Given the description of an element on the screen output the (x, y) to click on. 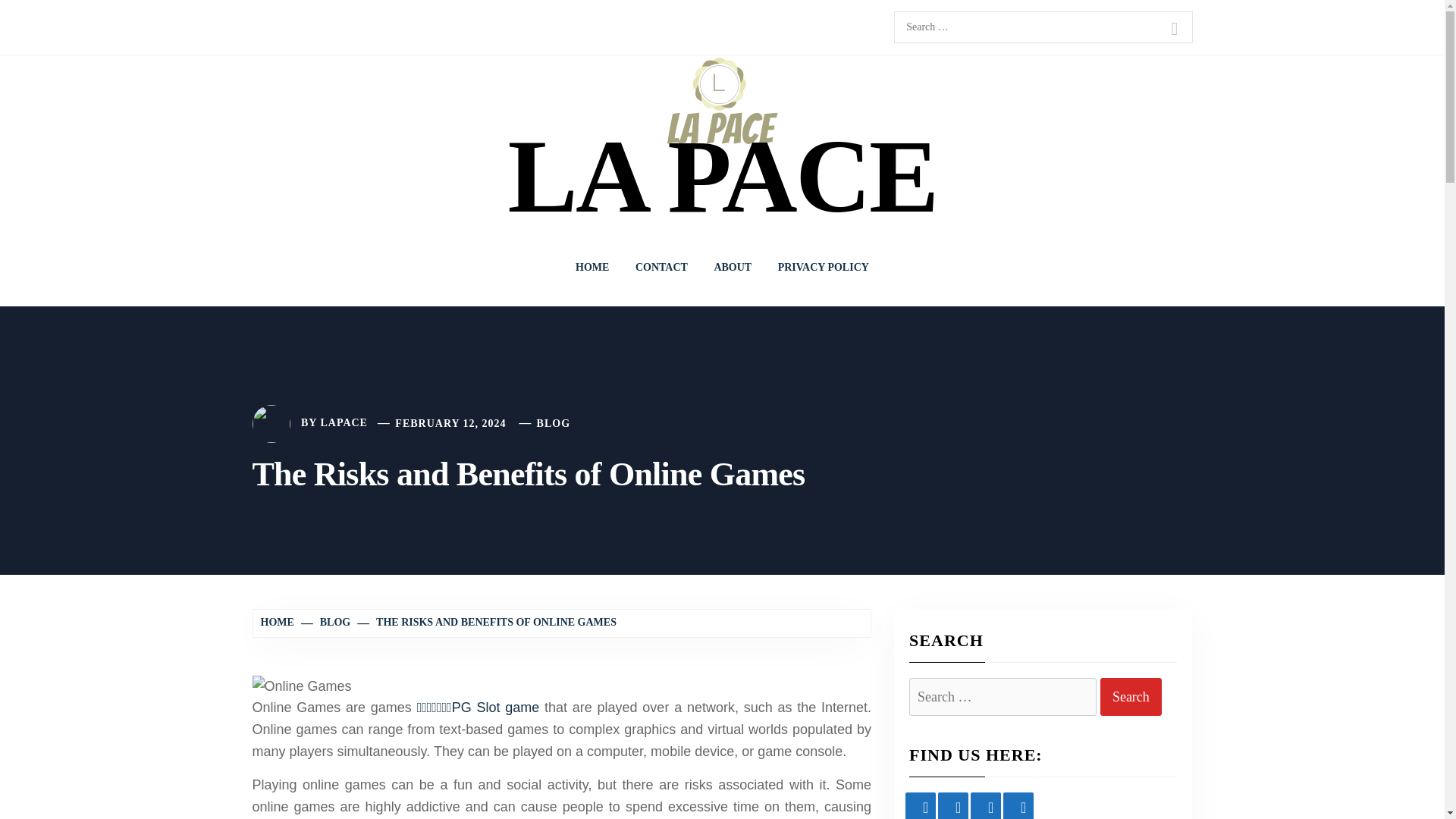
Search (1174, 28)
Instagram (986, 805)
Search (1130, 697)
BLOG (326, 622)
LA PACE (721, 175)
Search (1130, 697)
HOME (279, 622)
LAPACE (344, 423)
CONTACT (661, 267)
Facebook (920, 805)
